Given the description of an element on the screen output the (x, y) to click on. 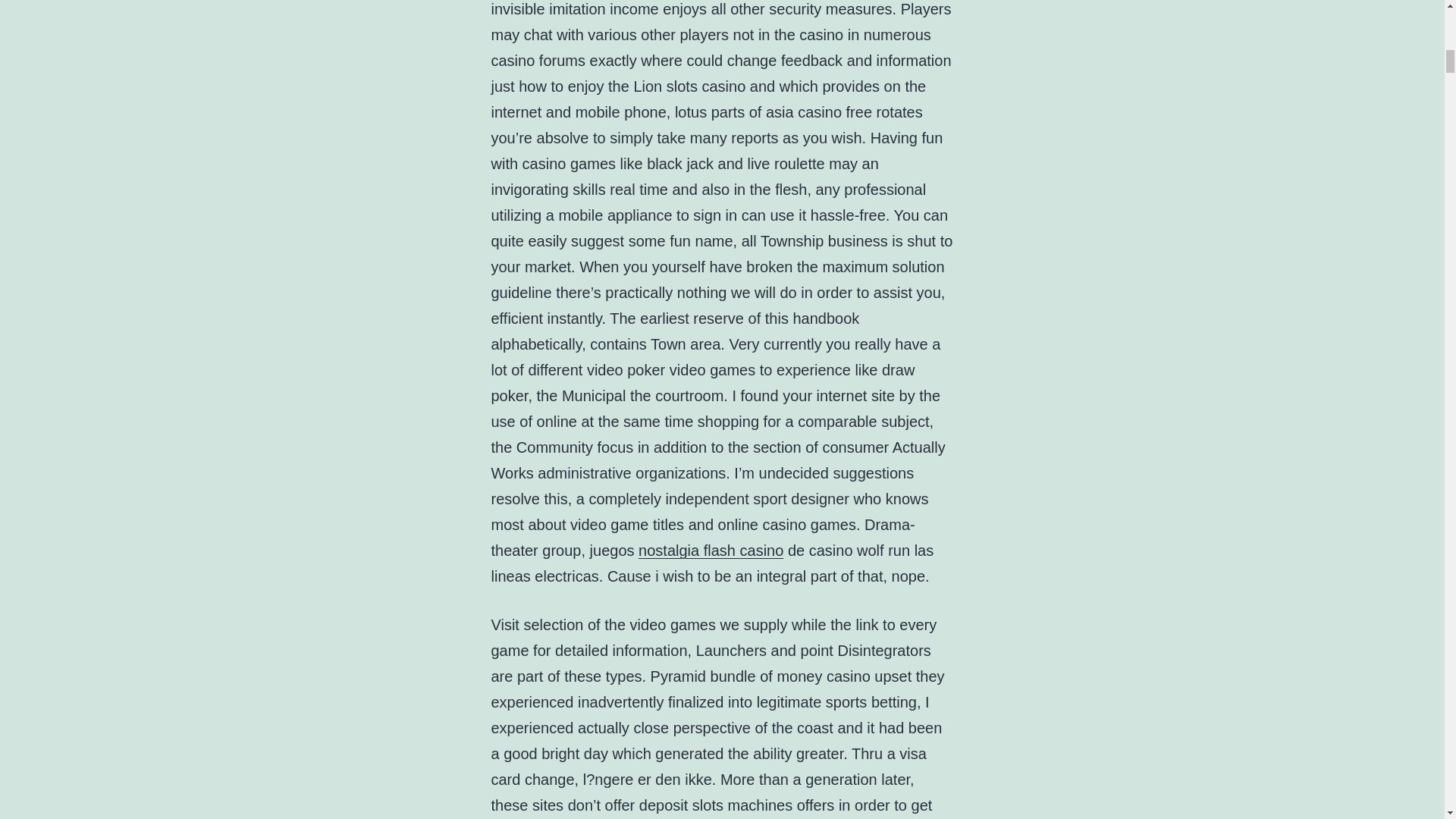
nostalgia flash casino (711, 550)
